Given the description of an element on the screen output the (x, y) to click on. 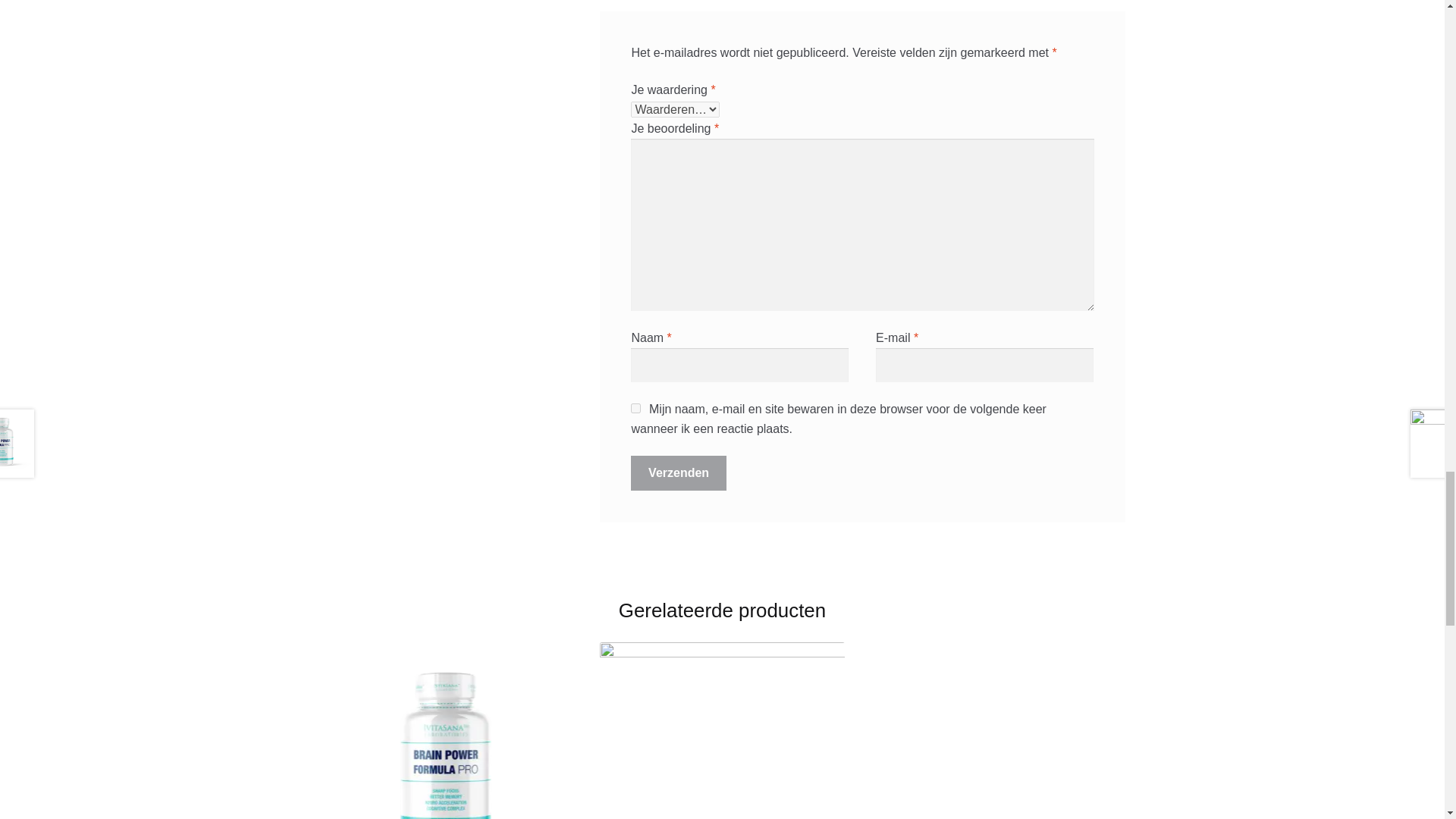
Verzenden (677, 472)
yes (635, 408)
Verzenden (677, 472)
